Given the description of an element on the screen output the (x, y) to click on. 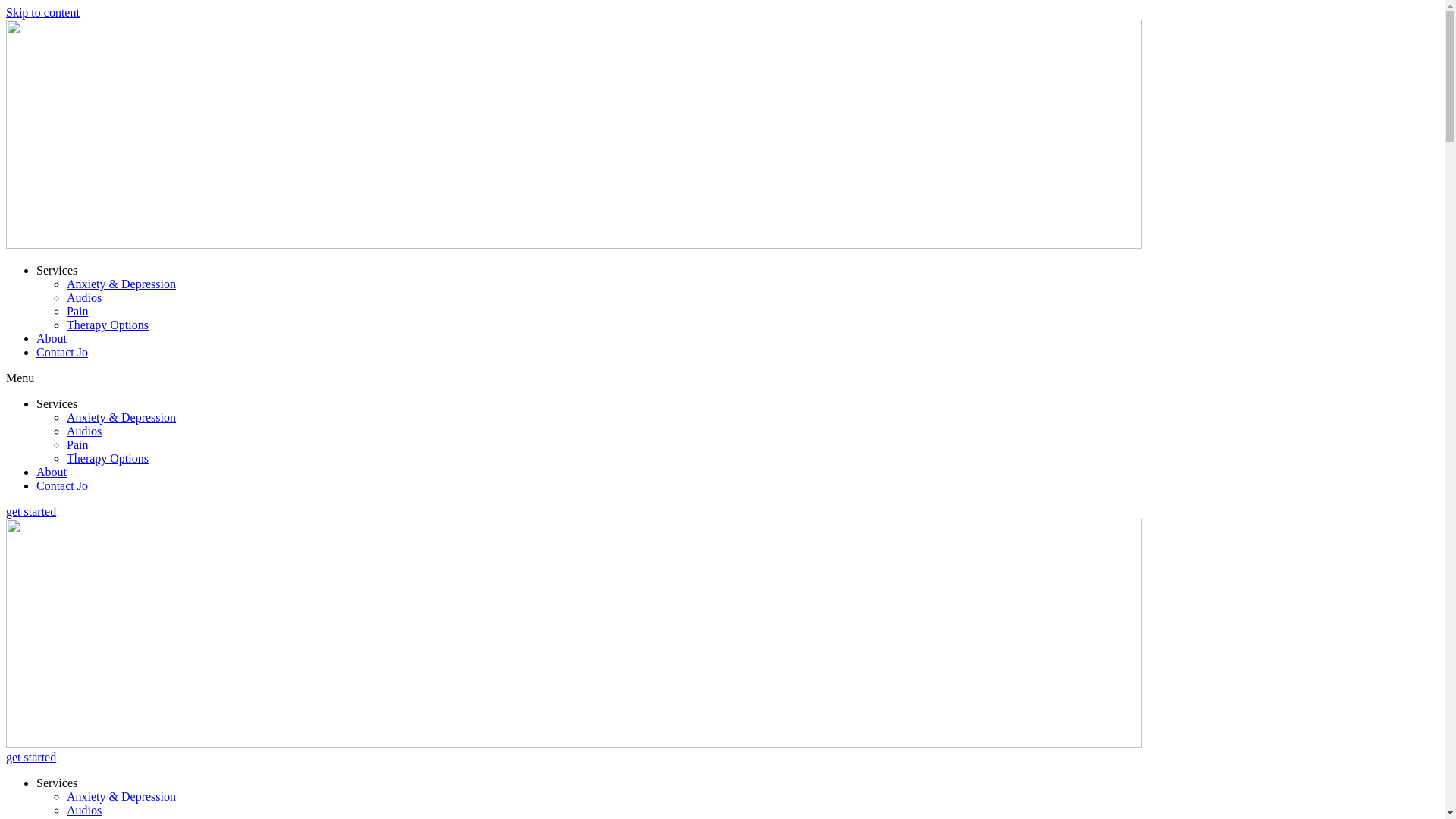
Services Element type: text (56, 269)
Audios Element type: text (83, 430)
Therapy Options Element type: text (107, 324)
Therapy Options Element type: text (107, 457)
Contact Jo Element type: text (61, 485)
Audios Element type: text (83, 809)
Pain Element type: text (76, 310)
Anxiety & Depression Element type: text (120, 283)
Services Element type: text (56, 403)
Services Element type: text (56, 782)
About Element type: text (51, 471)
Audios Element type: text (83, 297)
Skip to content Element type: text (42, 12)
Anxiety & Depression Element type: text (120, 796)
Pain Element type: text (76, 444)
About Element type: text (51, 338)
get started Element type: text (31, 756)
get started Element type: text (31, 511)
Anxiety & Depression Element type: text (120, 417)
Contact Jo Element type: text (61, 351)
